Given the description of an element on the screen output the (x, y) to click on. 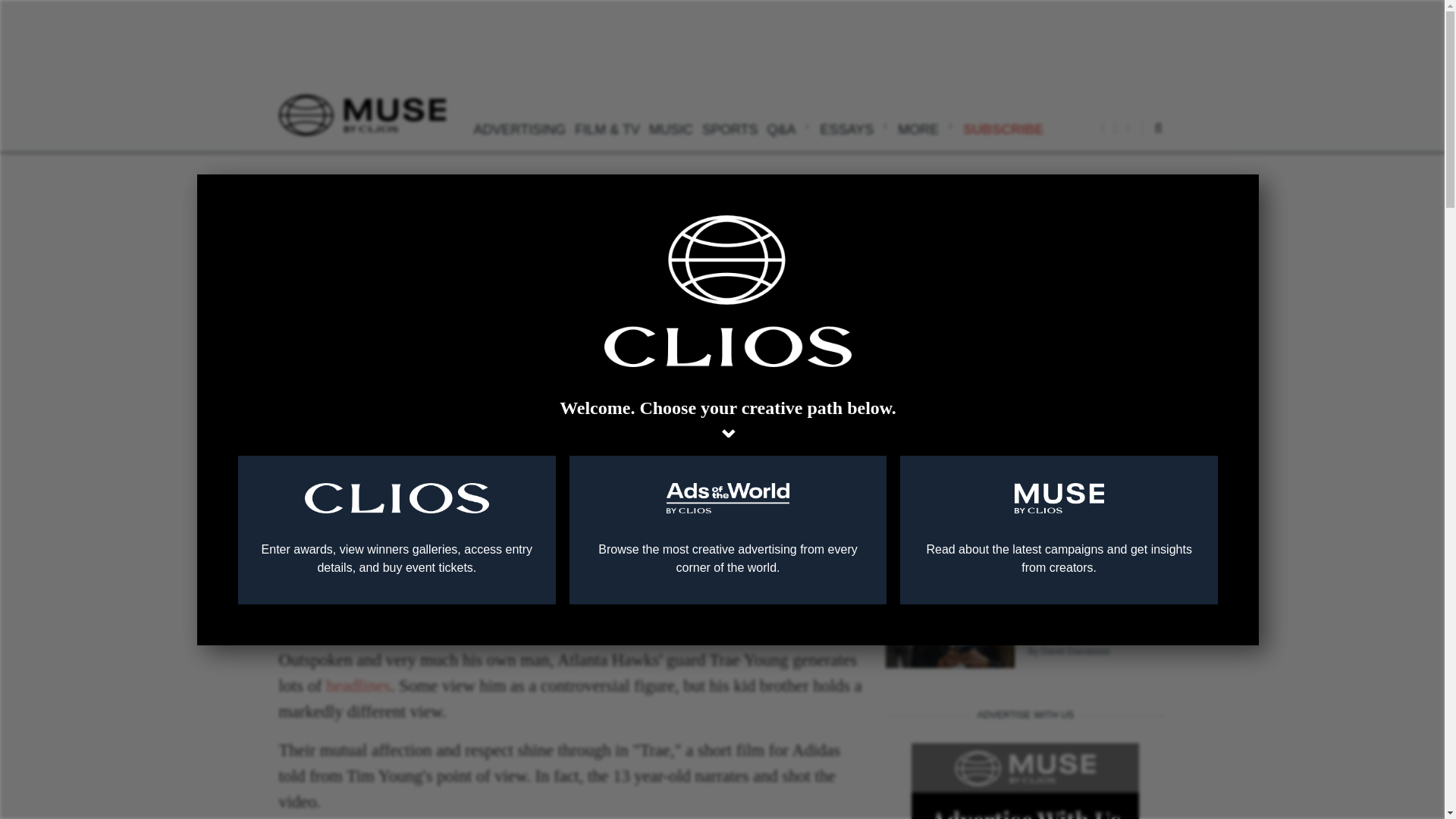
SUBSCRIBE (1002, 126)
MORE (925, 126)
SPORTS (729, 126)
ADVERTISING (519, 126)
ESSAYS (854, 126)
MUSIC (670, 126)
Go (1118, 174)
